Given the description of an element on the screen output the (x, y) to click on. 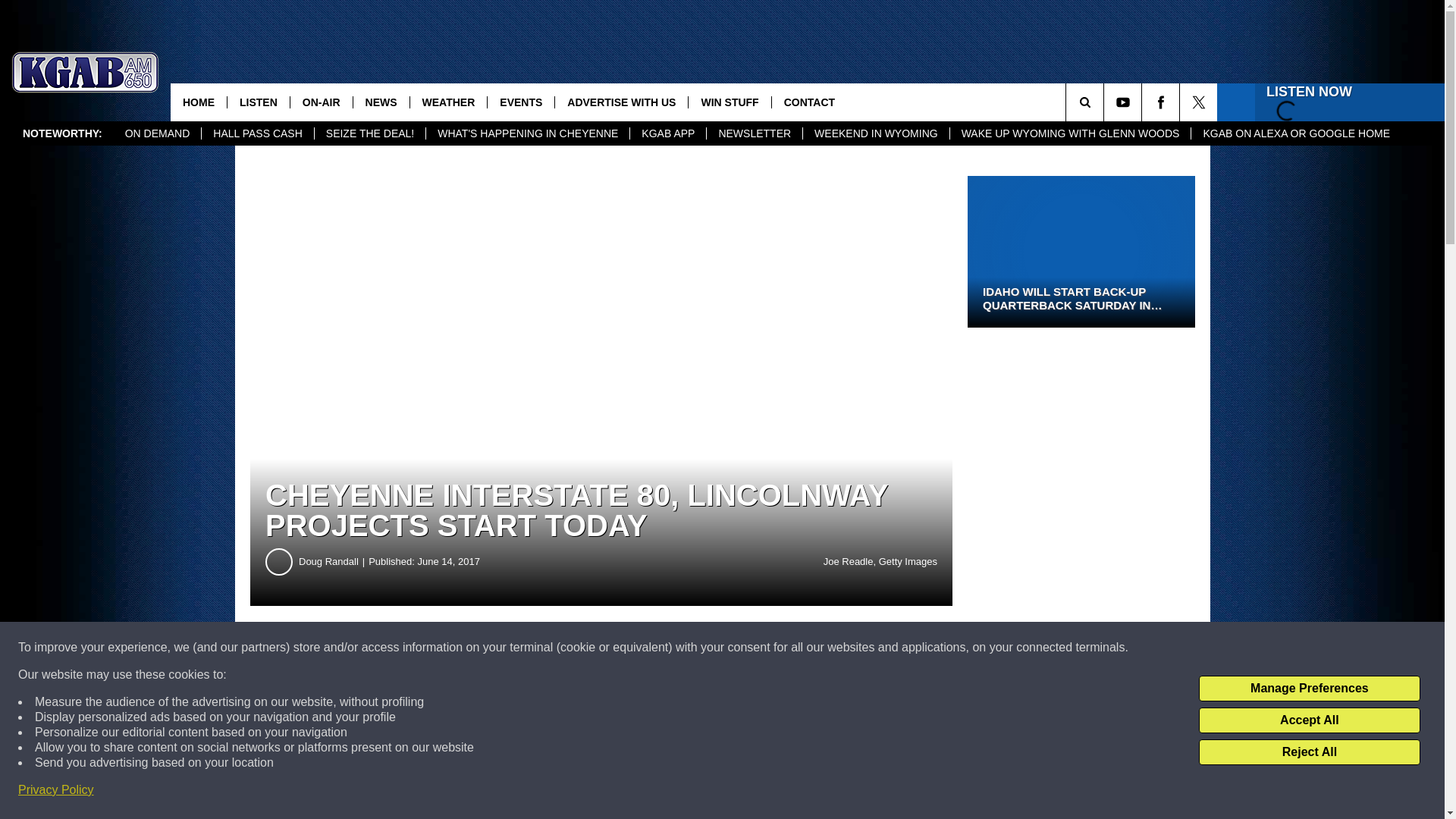
HOME (198, 102)
ON-AIR (320, 102)
SEARCH (1106, 102)
ON DEMAND (157, 133)
Accept All (1309, 720)
NOTEWORTHY: (62, 133)
SEARCH (1106, 102)
Share on Twitter (741, 647)
WEEKEND IN WYOMING (875, 133)
NEWSLETTER (754, 133)
